Given the description of an element on the screen output the (x, y) to click on. 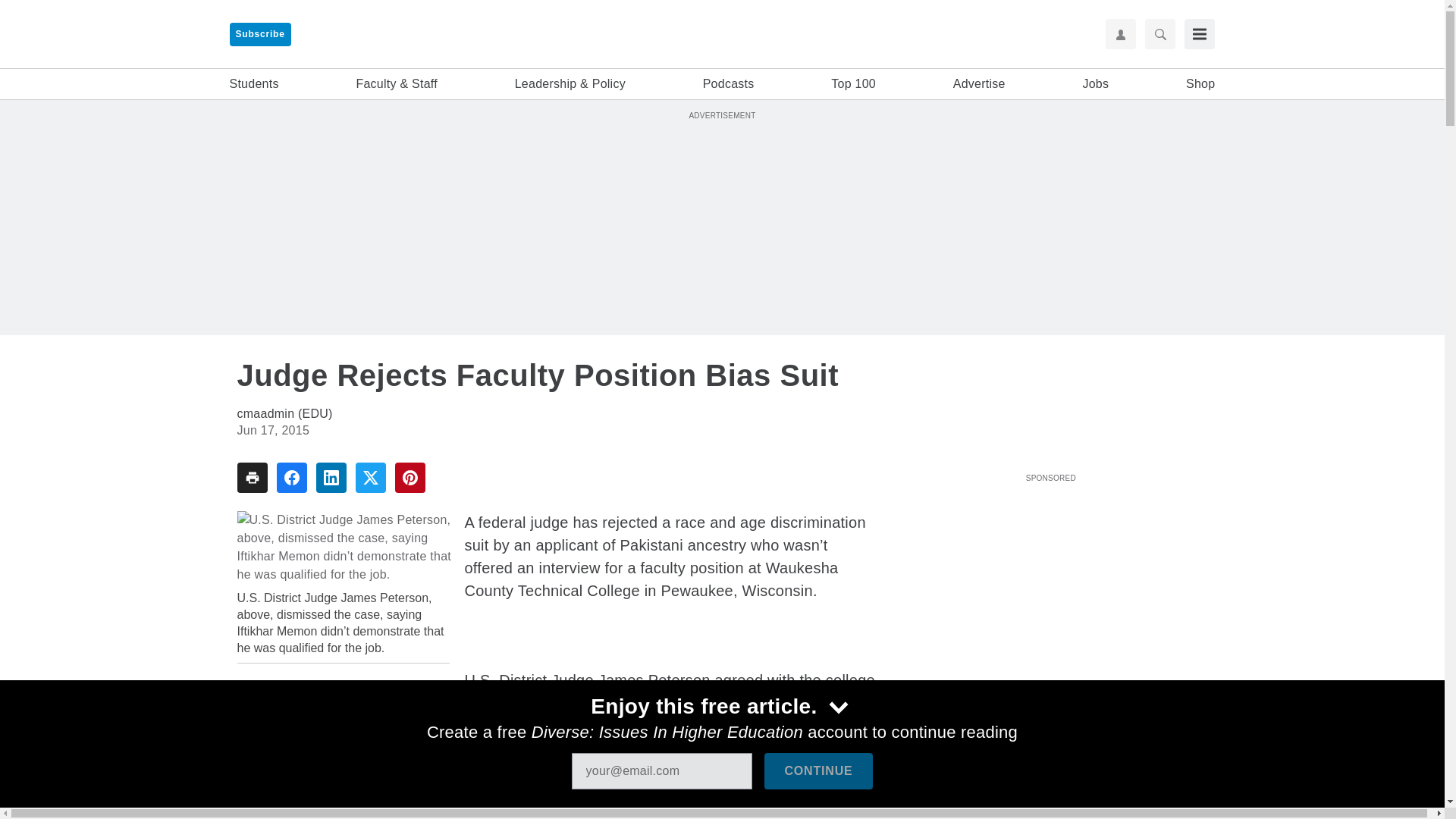
Share To pinterest (409, 477)
Advertise (979, 84)
Share To print (250, 477)
Share To facebook (290, 477)
Subscribe (258, 33)
Podcasts (728, 84)
Students (253, 84)
Subscribe (258, 33)
Share To linkedin (330, 477)
Shop (1200, 84)
